Given the description of an element on the screen output the (x, y) to click on. 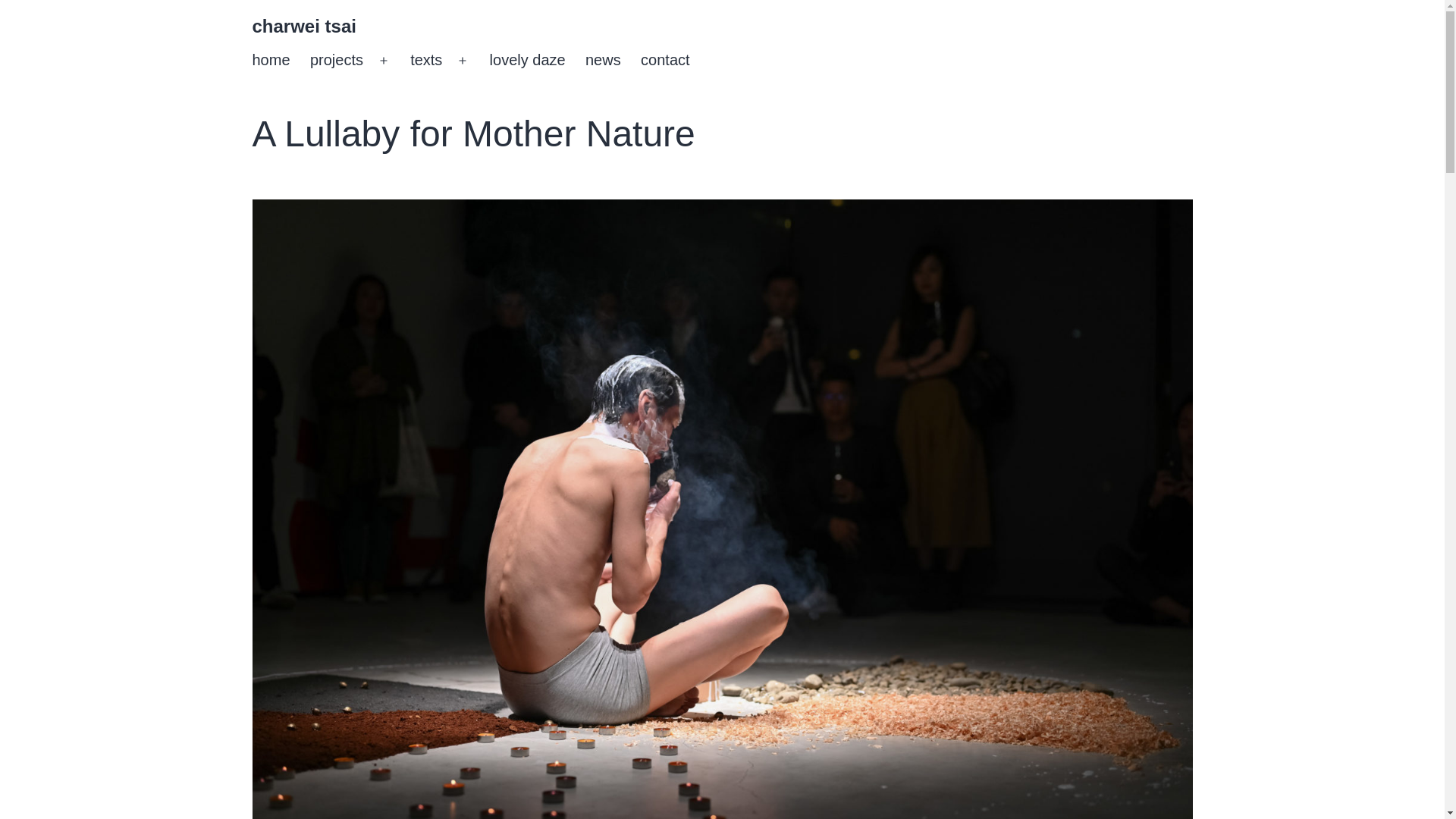
contact (665, 60)
texts (426, 60)
projects (335, 60)
news (602, 60)
charwei tsai (303, 25)
lovely daze (527, 60)
home (270, 60)
